Given the description of an element on the screen output the (x, y) to click on. 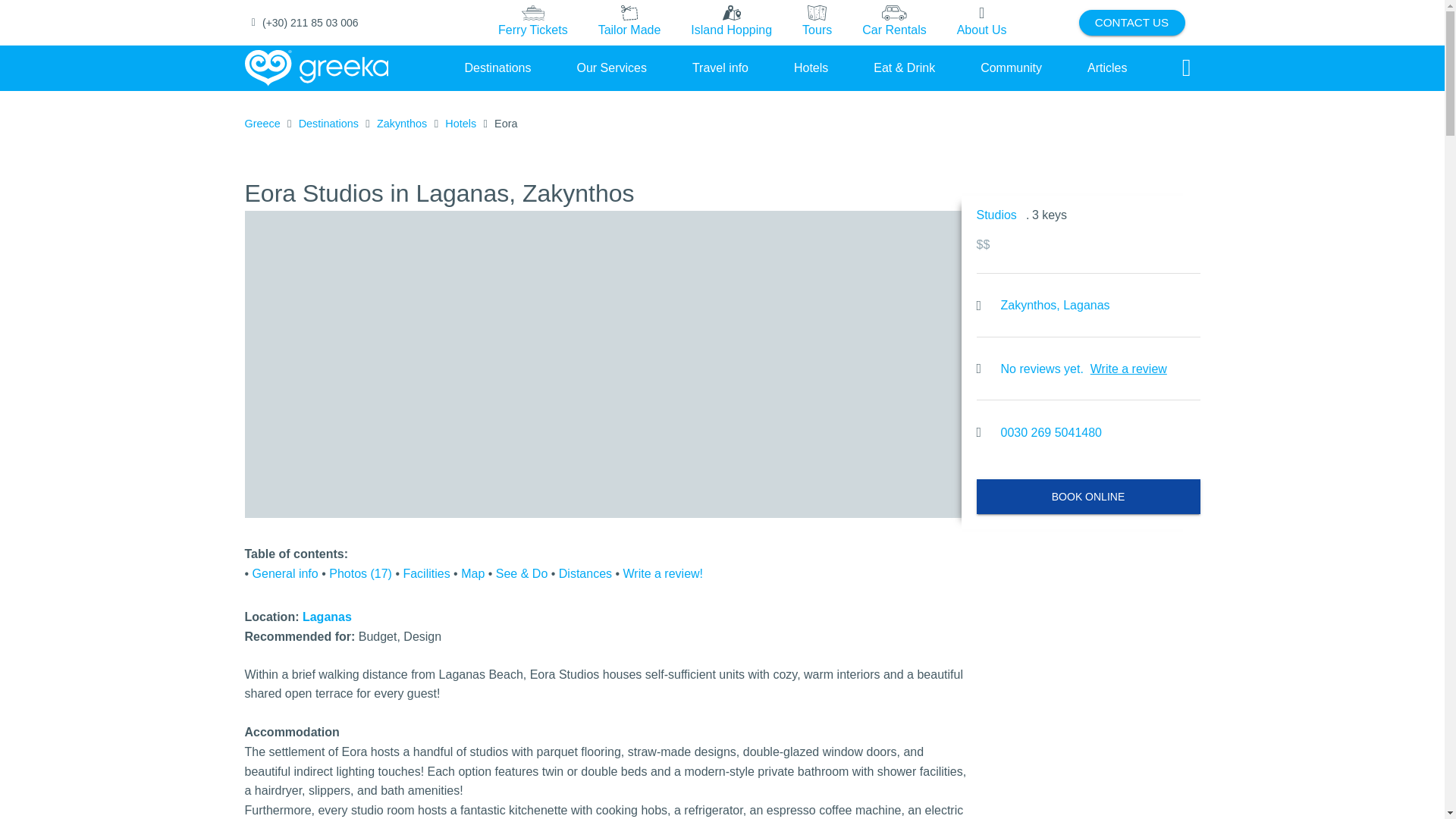
Our Services (611, 67)
General info (284, 573)
Travel info (720, 67)
Articles (1106, 67)
Hotels (810, 67)
Destinations (497, 67)
General info (284, 573)
No reviews yet.  Write a review (1087, 369)
Travel info (720, 67)
Tours (817, 22)
Car rentals (893, 22)
About Us (982, 22)
Write a review! (663, 573)
0030 269 5041480 (1051, 433)
BOOK ONLINE (1087, 496)
